Given the description of an element on the screen output the (x, y) to click on. 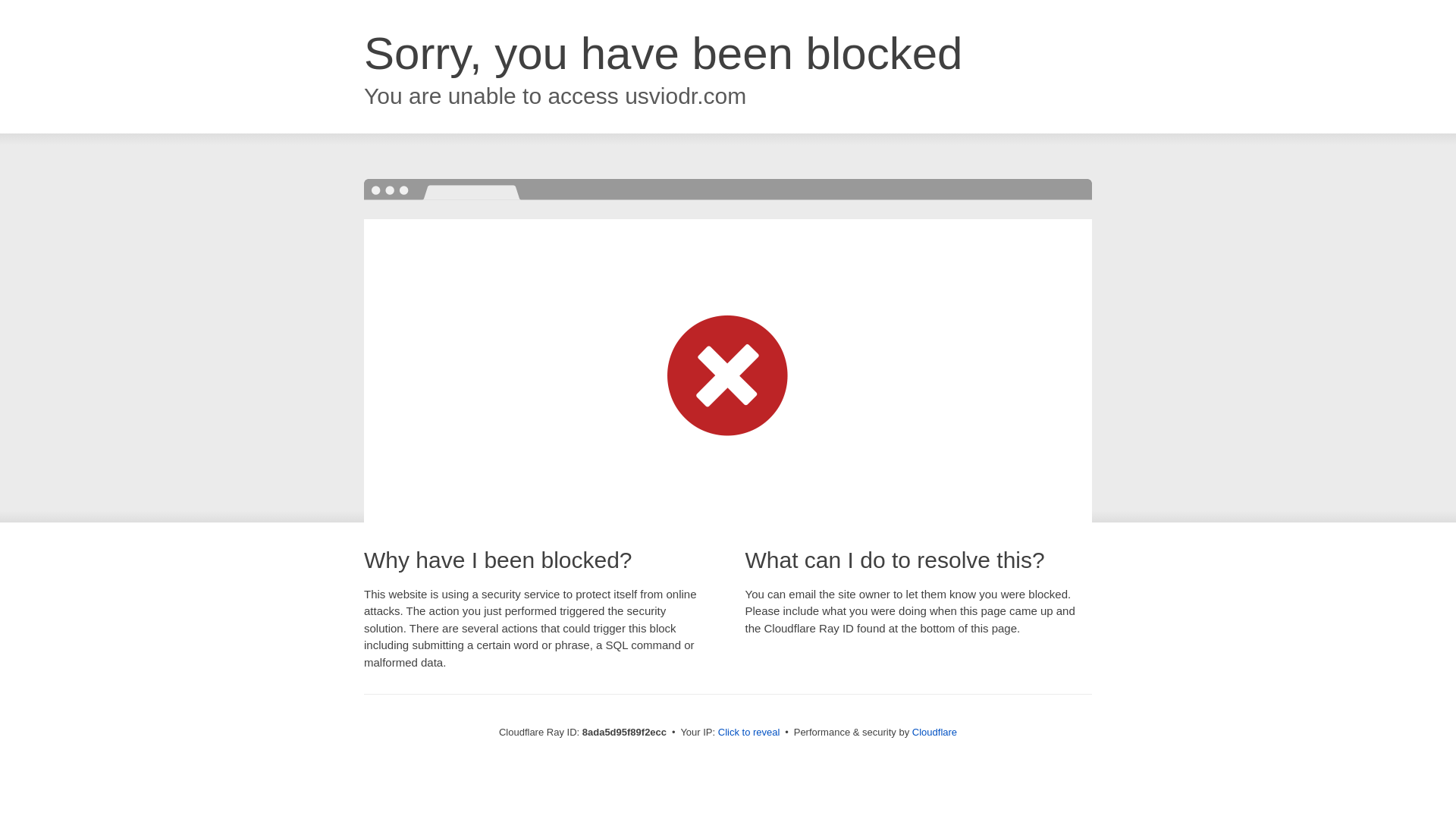
Click to reveal (748, 732)
Cloudflare (934, 731)
